Given the description of an element on the screen output the (x, y) to click on. 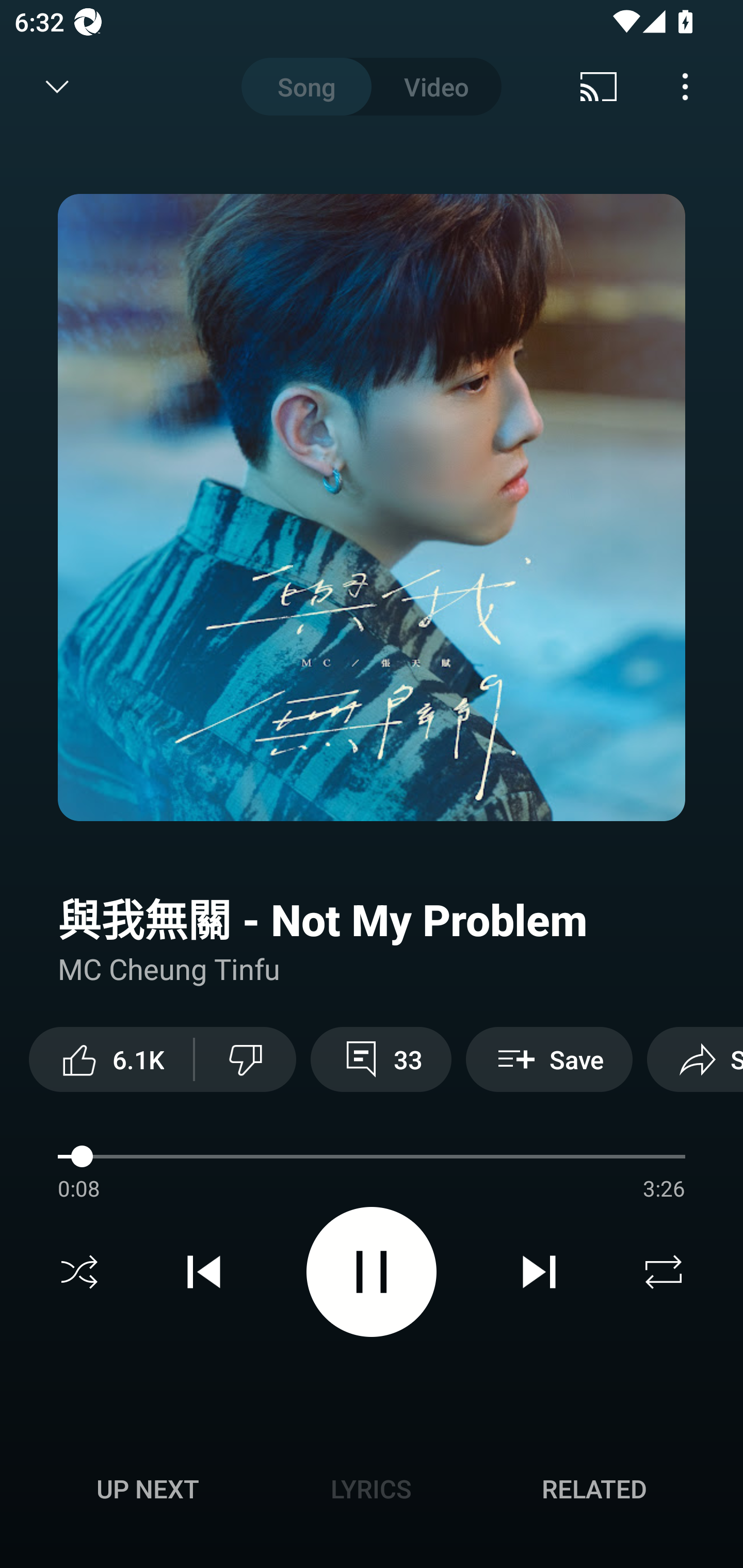
Minimize (57, 86)
Cast. Disconnected (598, 86)
Menu (684, 86)
6.1K like this video along with 6,103 other people (110, 1059)
Dislike (245, 1059)
33 View 33 comments (380, 1059)
Save Save to playlist (548, 1059)
Share (695, 1059)
Pause video (371, 1272)
Shuffle off (79, 1272)
Previous track (203, 1272)
Next track (538, 1272)
Repeat off (663, 1272)
Up next UP NEXT Lyrics LYRICS Related RELATED (371, 1491)
Lyrics LYRICS (370, 1488)
Related RELATED (594, 1488)
